Given the description of an element on the screen output the (x, y) to click on. 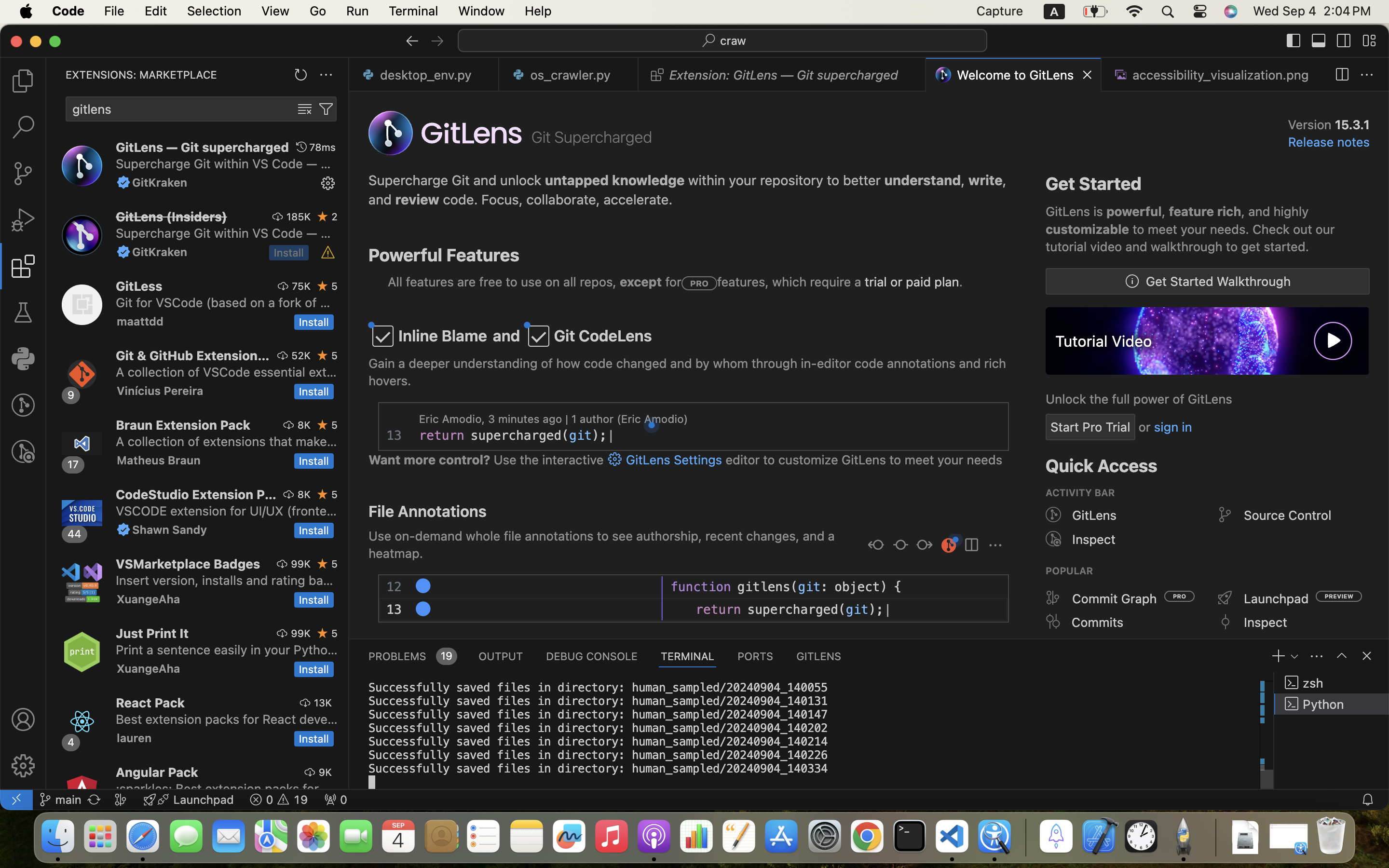
VSMarketplace Badges Element type: AXStaticText (187, 563)
EA Element type: AXStaticText (423, 586)
XuangeAha Element type: AXStaticText (148, 598)
Hello GitLens Element type: AXStaticText (489, 586)
lauren Element type: AXStaticText (134, 737)
